Given the description of an element on the screen output the (x, y) to click on. 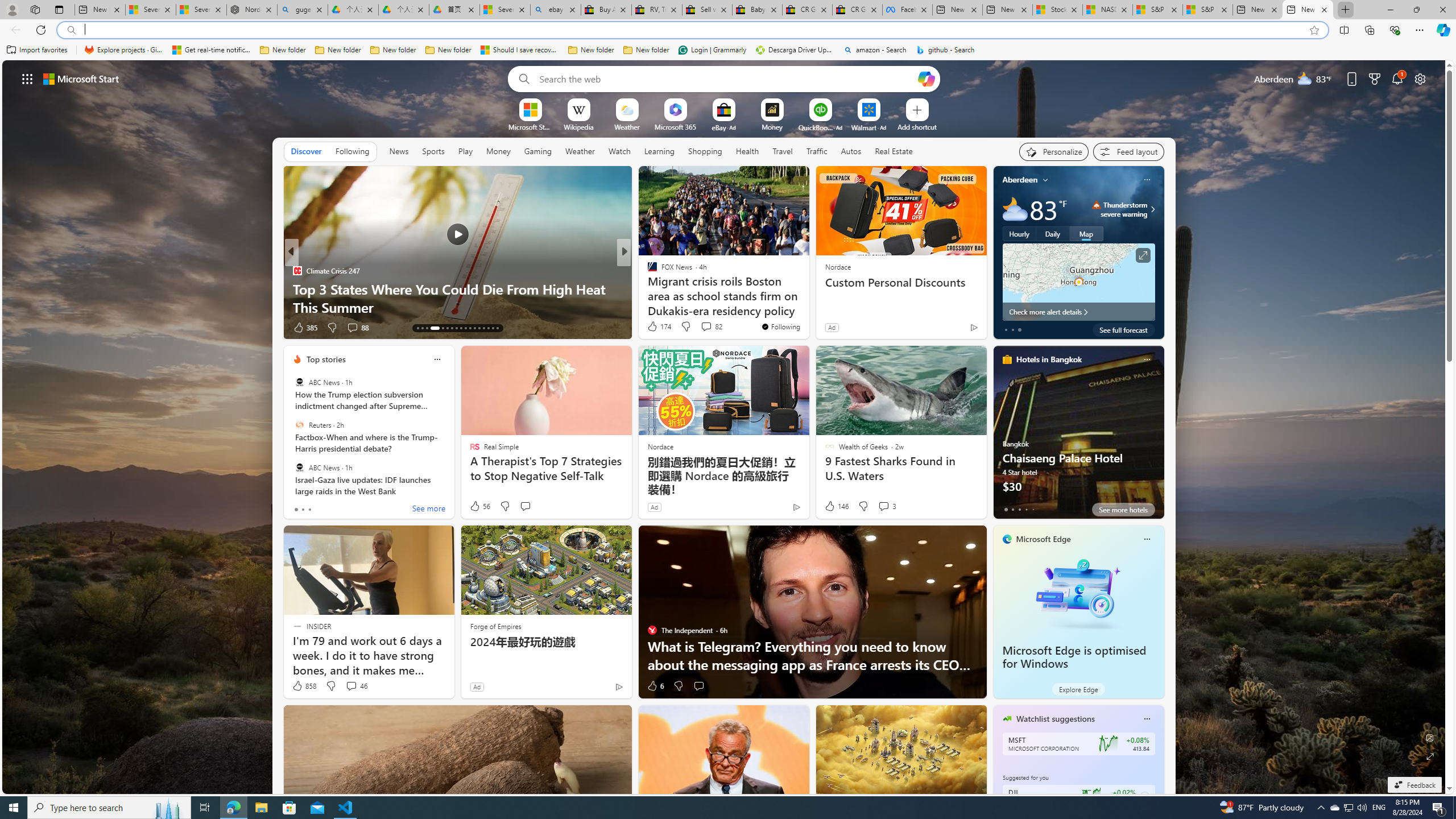
Money (498, 151)
23 Like (652, 327)
View comments 19 Comment (698, 327)
